Given the description of an element on the screen output the (x, y) to click on. 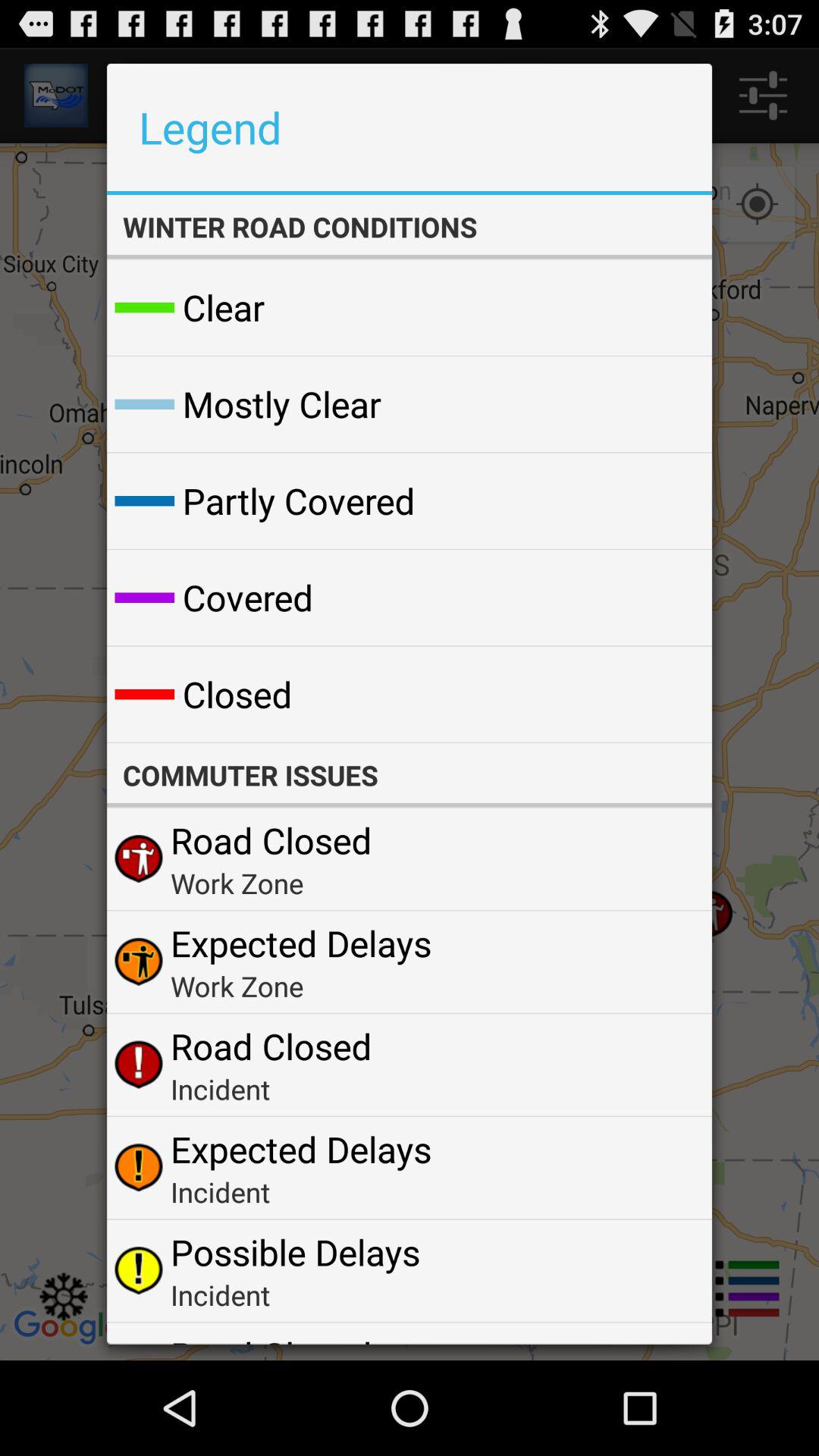
flip to the mostly clear icon (281, 403)
